Given the description of an element on the screen output the (x, y) to click on. 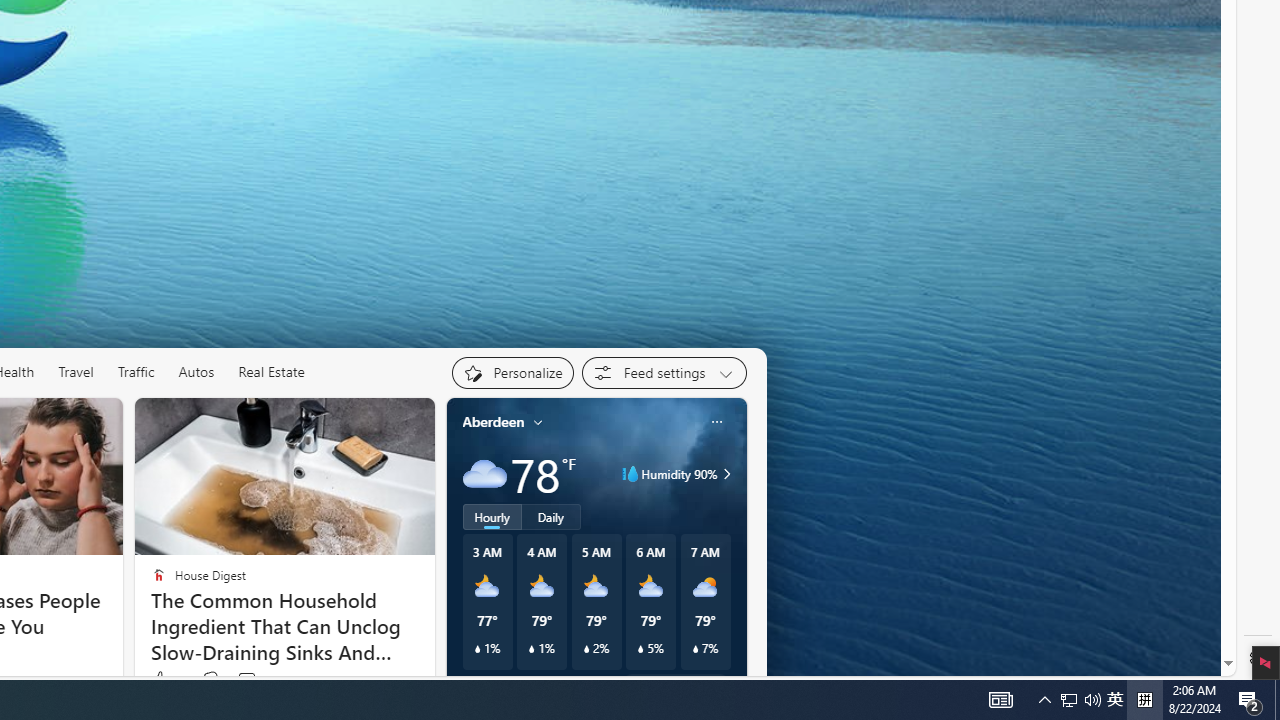
Aberdeen (493, 422)
Cloudy (484, 474)
Class: weather-current-precipitation-glyph (1069, 699)
Q2790: 100% (695, 649)
User Promoted Notification Area (1092, 699)
Action Center, 2 new notifications (1080, 699)
Tray Input Indicator - Chinese (Simplified, China) (1250, 699)
More options (1144, 699)
Real Estate (715, 422)
